Given the description of an element on the screen output the (x, y) to click on. 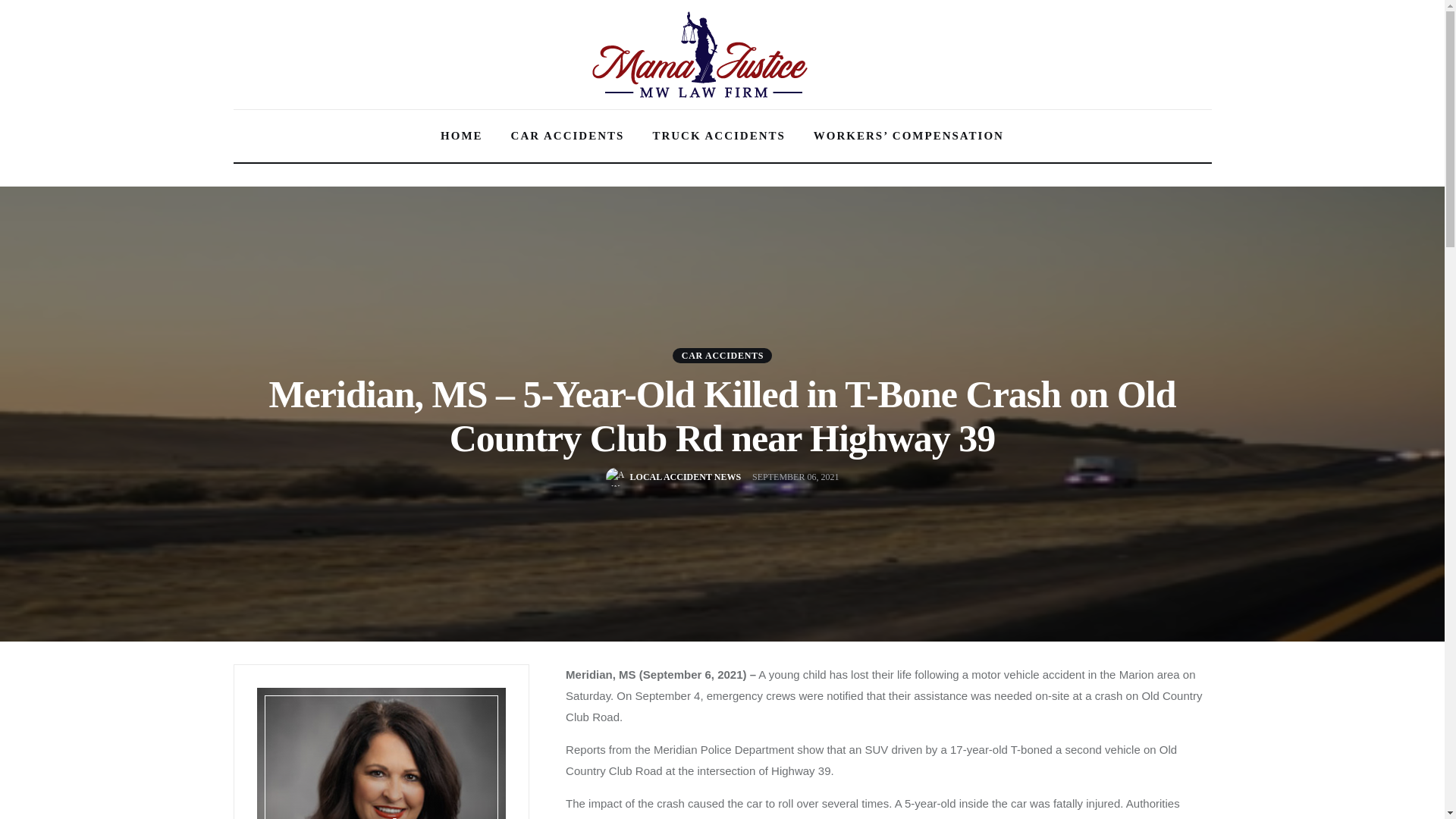
TRUCK ACCIDENTS (718, 135)
LOCAL ACCIDENT NEWS (673, 476)
Gravatar for Local Accident News (614, 476)
HOME (462, 135)
CAR ACCIDENTS (567, 135)
CAR ACCIDENTS (721, 354)
